Given the description of an element on the screen output the (x, y) to click on. 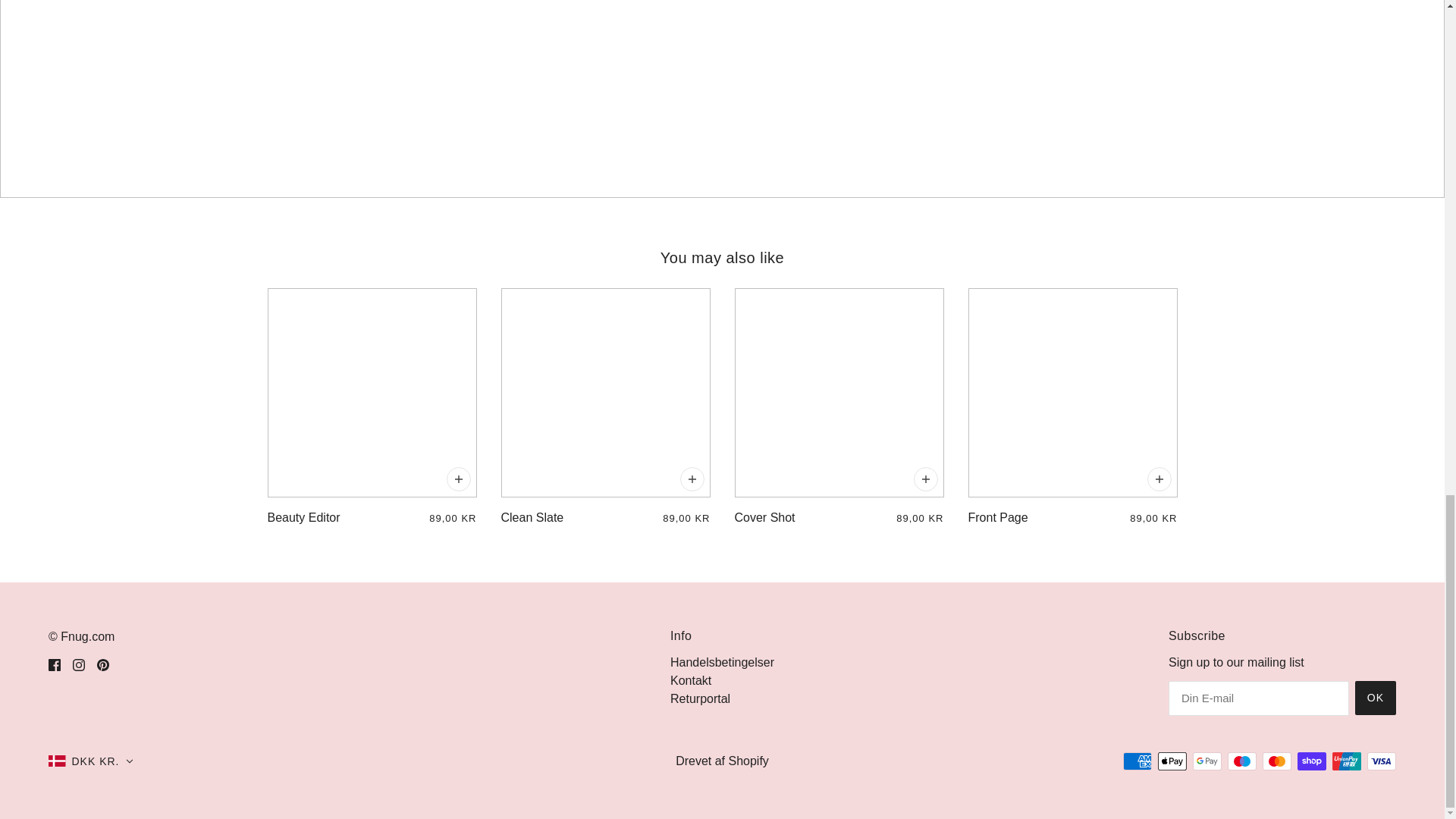
Handelsbetingelser (721, 662)
Maestro (1241, 761)
OK (1375, 697)
American Express (1136, 761)
Apple Pay (1171, 761)
Returportal (699, 698)
Kontakt (690, 680)
Handelsbetingelser (721, 662)
Google Pay (1206, 761)
Kontakt (690, 680)
Returportal (699, 698)
